Given the description of an element on the screen output the (x, y) to click on. 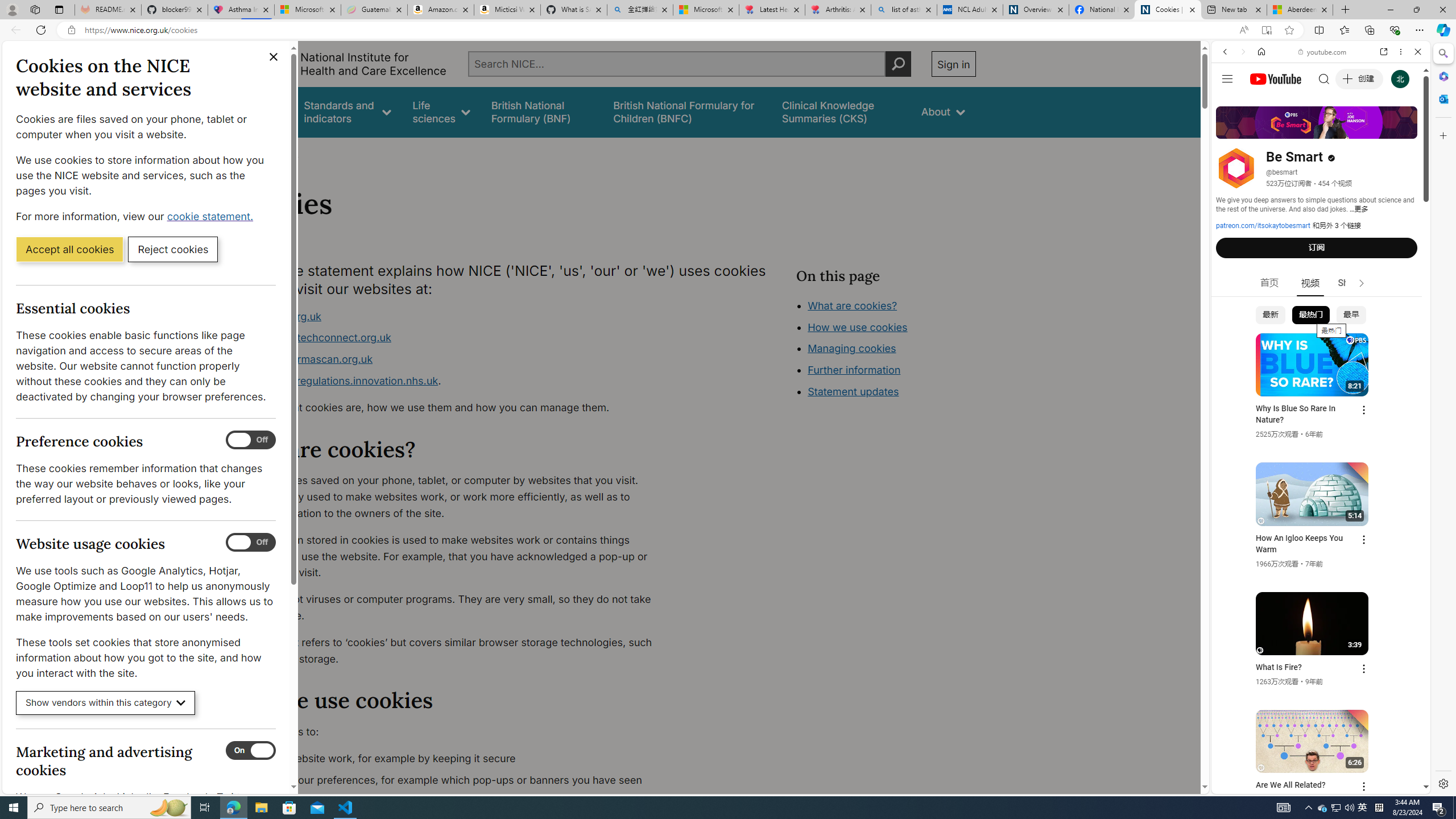
www.ukpharmascan.org.uk (452, 359)
Class: style-scope tp-yt-iron-icon (1361, 283)
Aberdeen, Hong Kong SAR hourly forecast | Microsoft Weather (1300, 9)
Cookies | About | NICE (1167, 9)
make our website work, for example by keeping it secure (452, 759)
cookie statement. (Opens in a new window) (211, 215)
Trailer #2 [HD] (1320, 336)
www.nice.org.uk (452, 316)
